Given the description of an element on the screen output the (x, y) to click on. 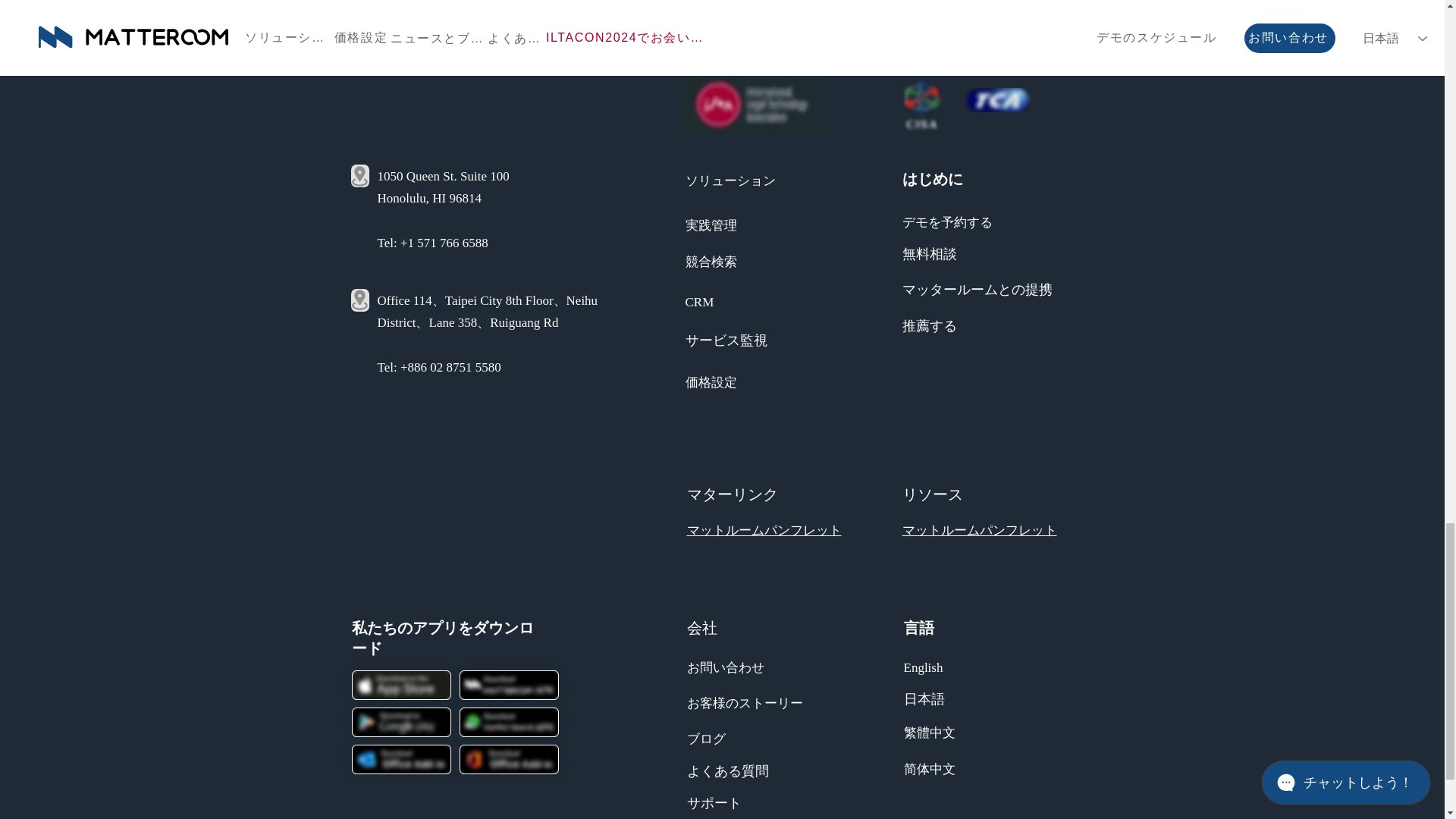
CRM (699, 300)
English (923, 665)
